Given the description of an element on the screen output the (x, y) to click on. 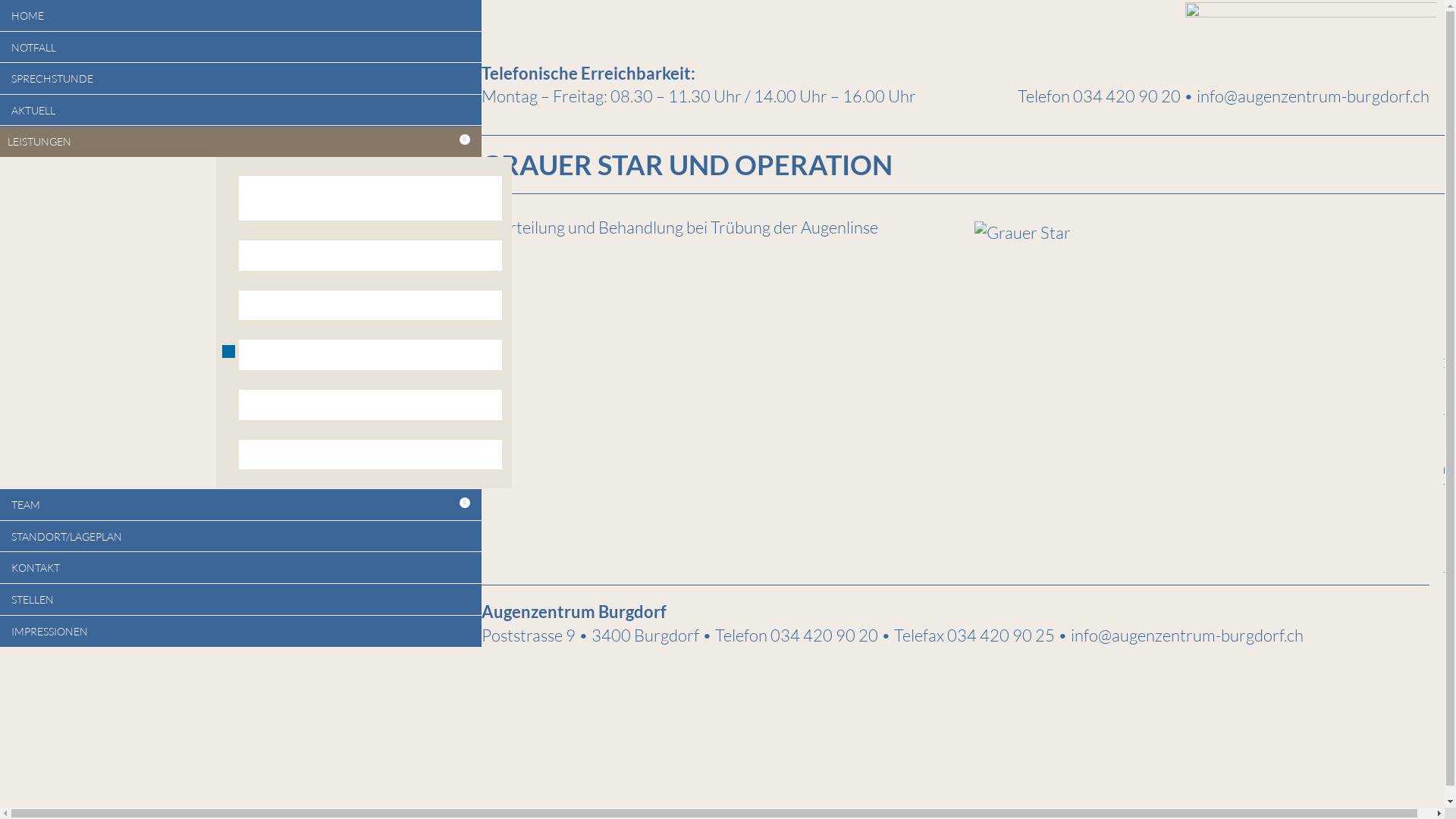
info@augenzentrum-burgdorf.ch Element type: text (1186, 634)
SPRECHSTUNDE Element type: text (240, 78)
LIDER UND OPERATIVE EINGRIFFE Element type: text (370, 404)
IMPRESSIONEN Element type: text (240, 631)
STELLEN Element type: text (240, 599)
STANDORT/LAGEPLAN Element type: text (240, 536)
info@augenzentrum-burgdorf.ch Element type: text (1312, 95)
HOME Element type: text (240, 15)
NETZHAUT-/ MAKULAERKRANKUNGEN Element type: text (370, 255)
TEAM Element type: text (240, 504)
GRAUER STAR UND OPERATION Element type: text (370, 354)
AKTUELL Element type: text (240, 109)
KONTAKT Element type: text (240, 567)
ROUTINEKONTROLLEN VORSORGEUNTERSUCHUNGEN Element type: text (370, 197)
NOTFALL Element type: text (240, 46)
